Given the description of an element on the screen output the (x, y) to click on. 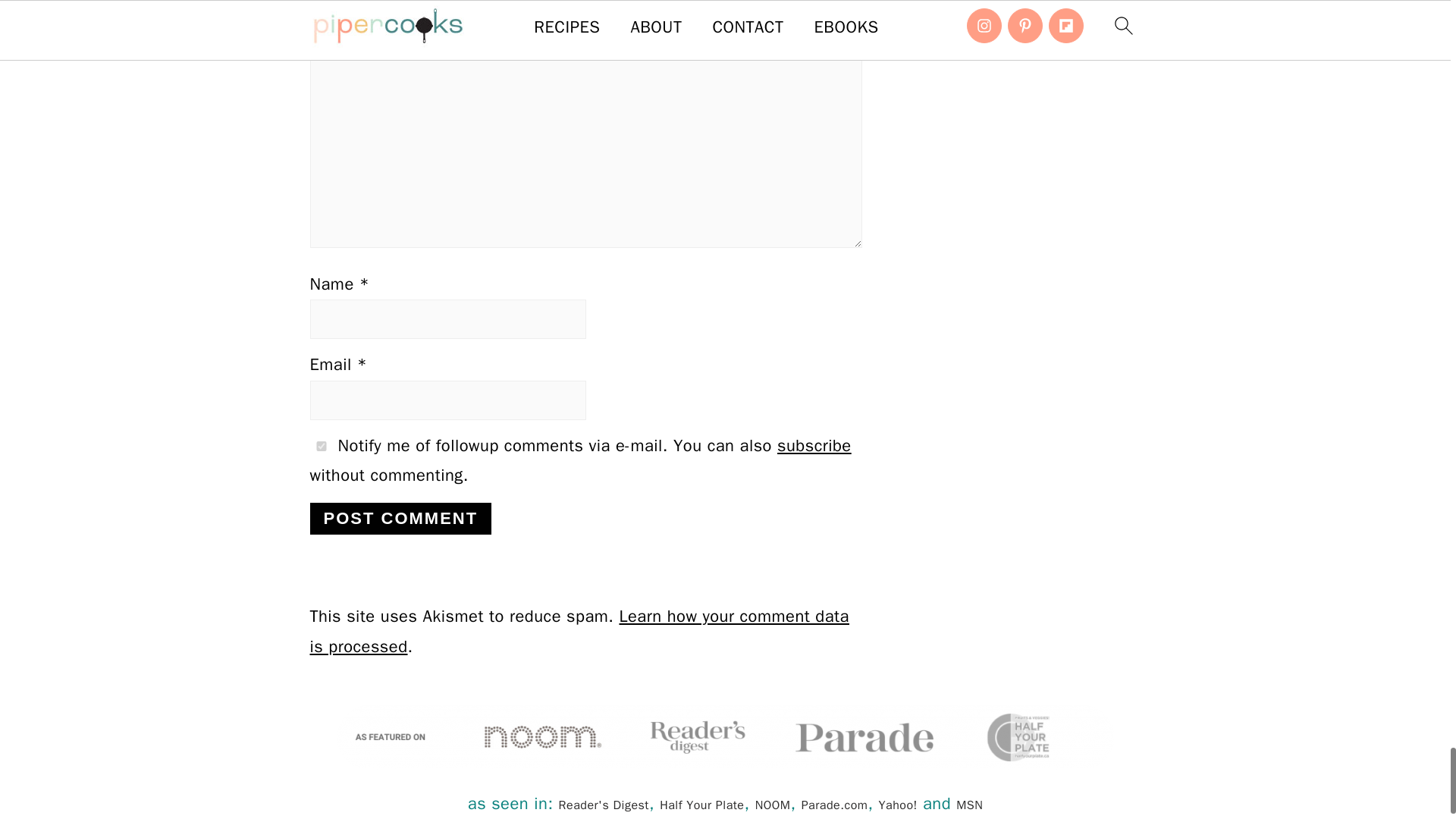
Post Comment (400, 518)
yes (319, 446)
